Given the description of an element on the screen output the (x, y) to click on. 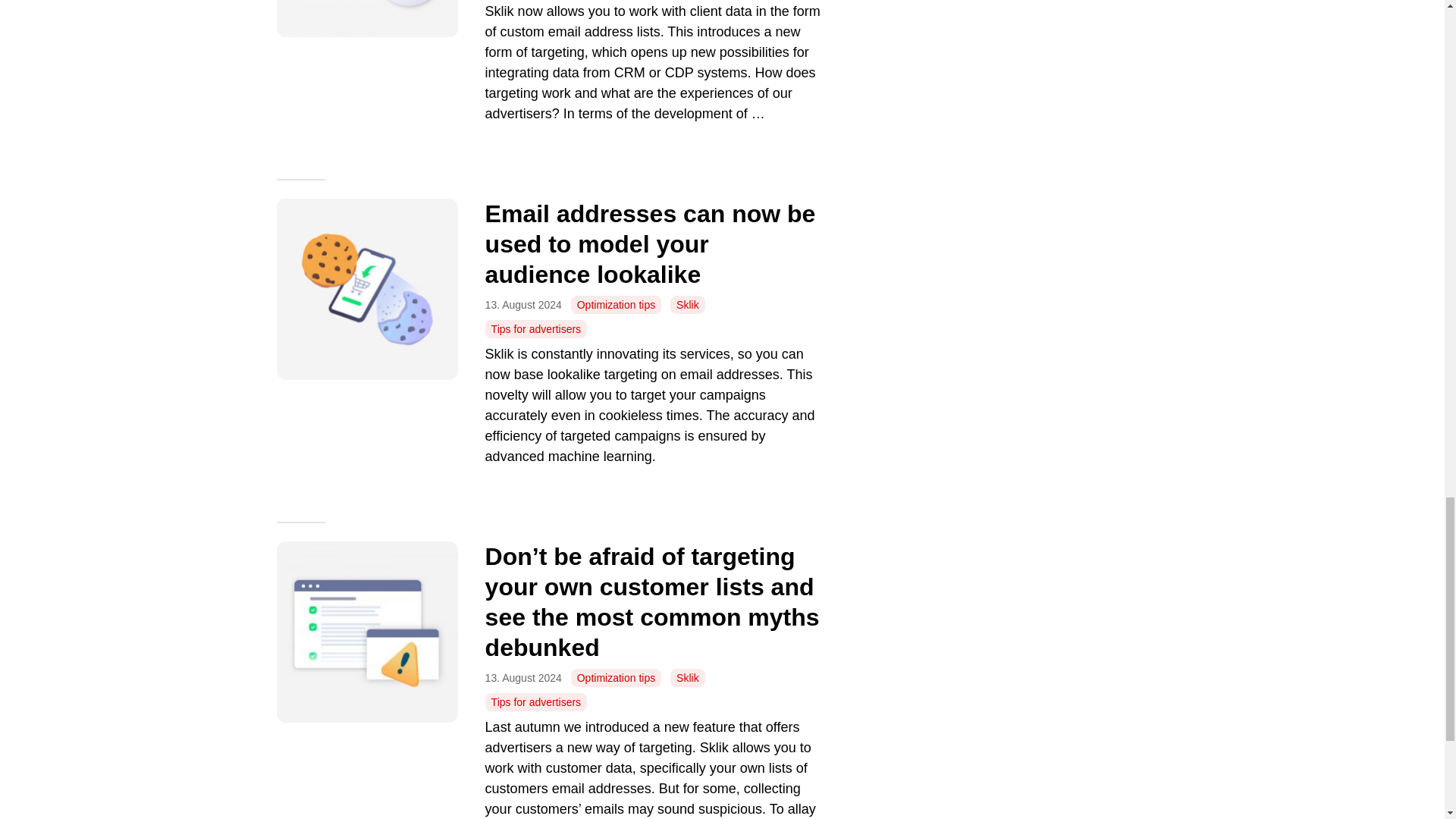
Optimization tips (615, 678)
Sklik (686, 678)
Tips for advertisers (536, 701)
Sklik (686, 304)
Tips for advertisers (536, 329)
Optimization tips (615, 304)
